Given the description of an element on the screen output the (x, y) to click on. 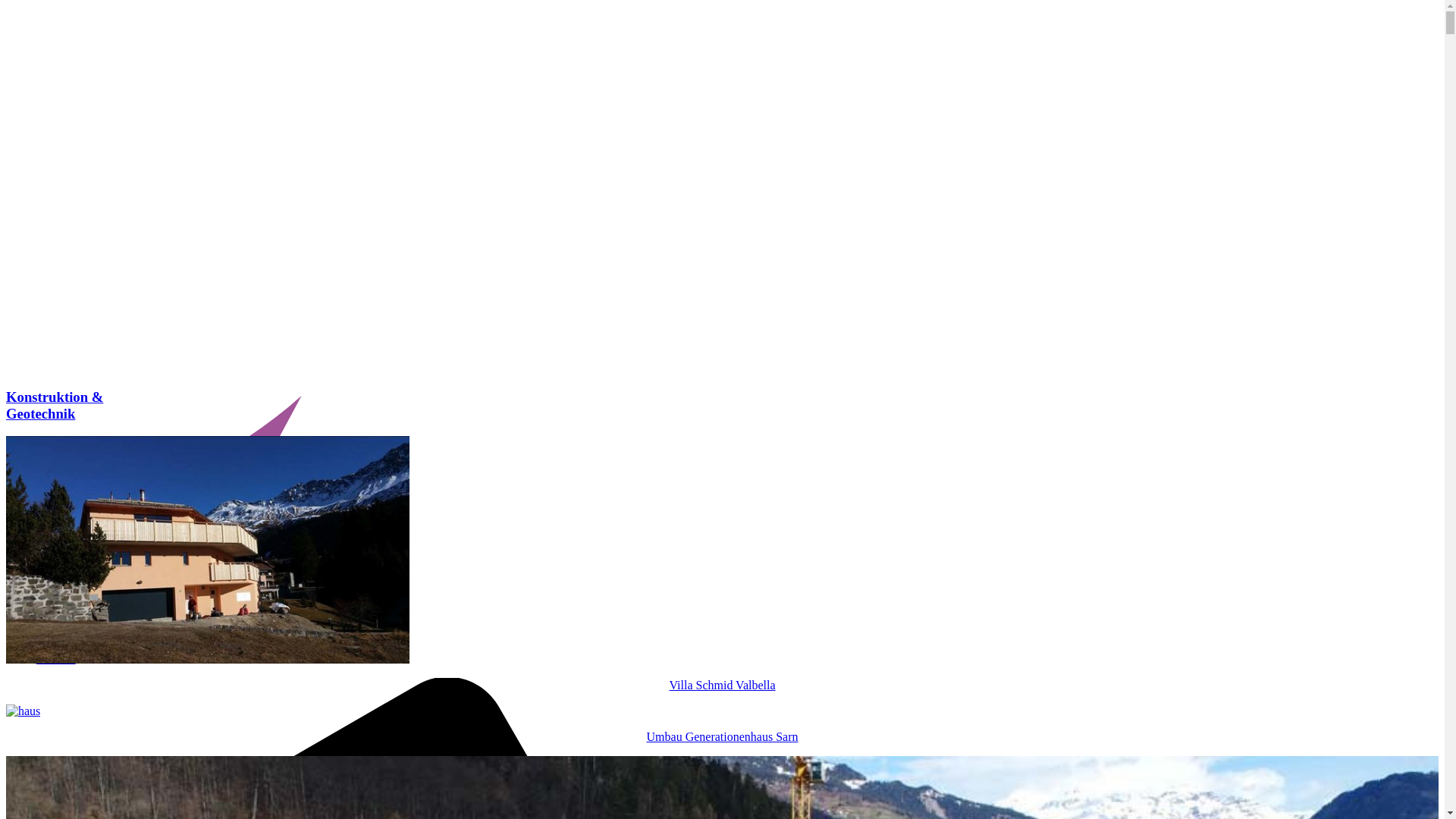
Konstruktion &
Geotechnik Element type: text (54, 405)
Referenzen Element type: text (63, 630)
Umbau Generationenhaus Sarn Element type: text (722, 723)
Firma Element type: text (50, 644)
Kontakt Element type: text (55, 658)
Villa Schmid Valbella Element type: text (722, 672)
Leistungen Element type: text (63, 617)
